Given the description of an element on the screen output the (x, y) to click on. 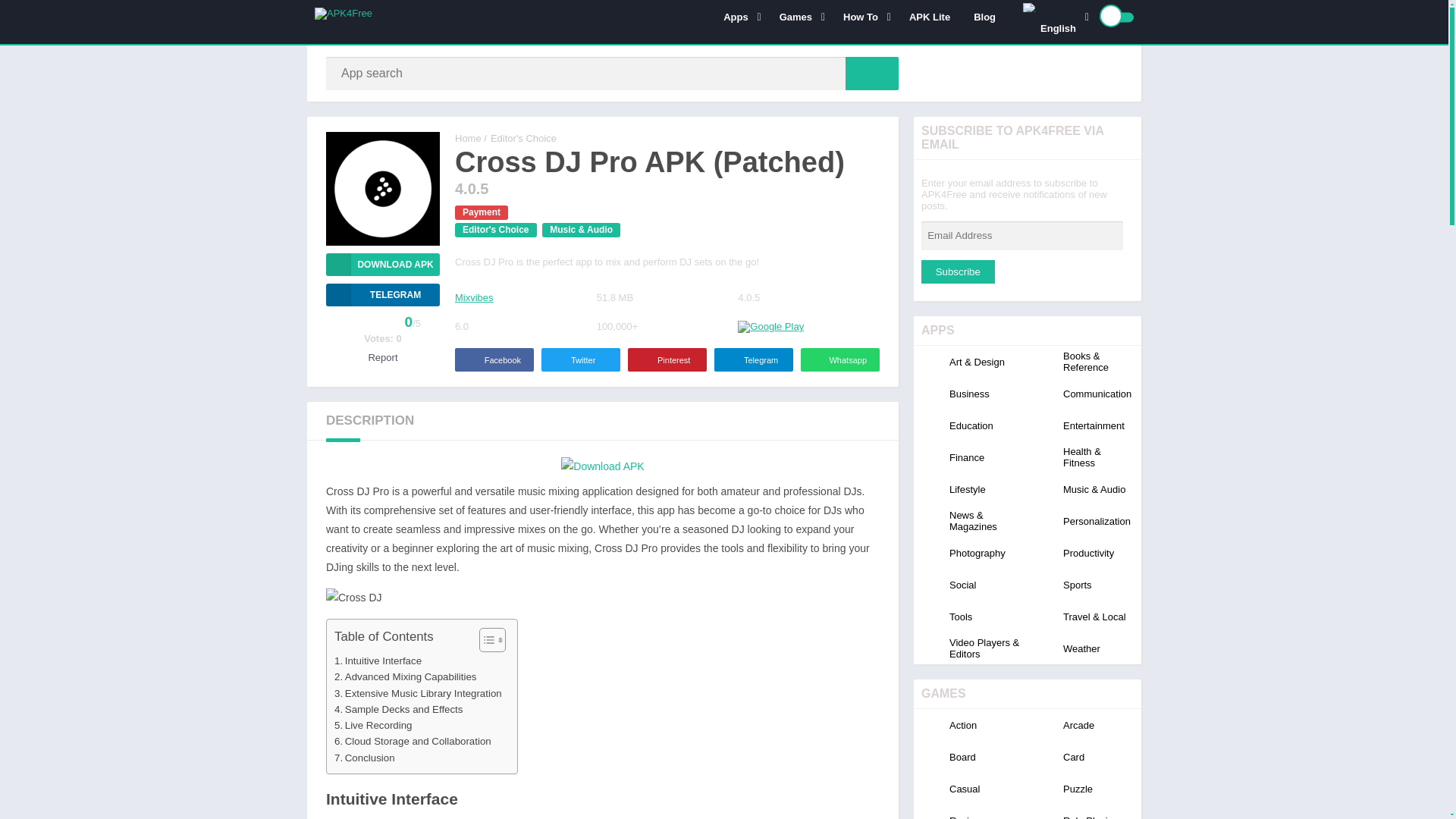
Apps (739, 17)
English (1029, 7)
